Given the description of an element on the screen output the (x, y) to click on. 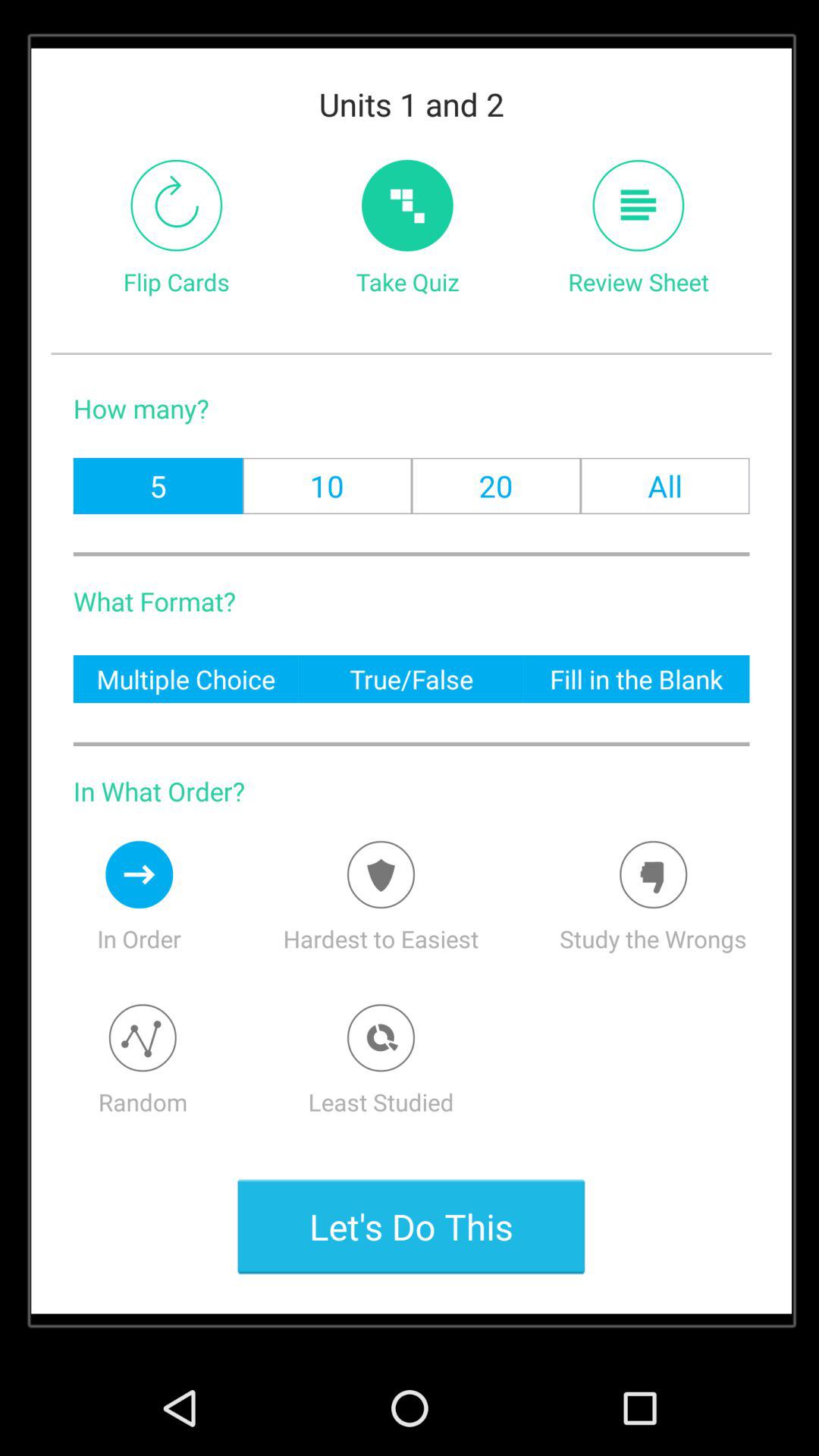
launch the item to the right of flip cards (407, 205)
